Given the description of an element on the screen output the (x, y) to click on. 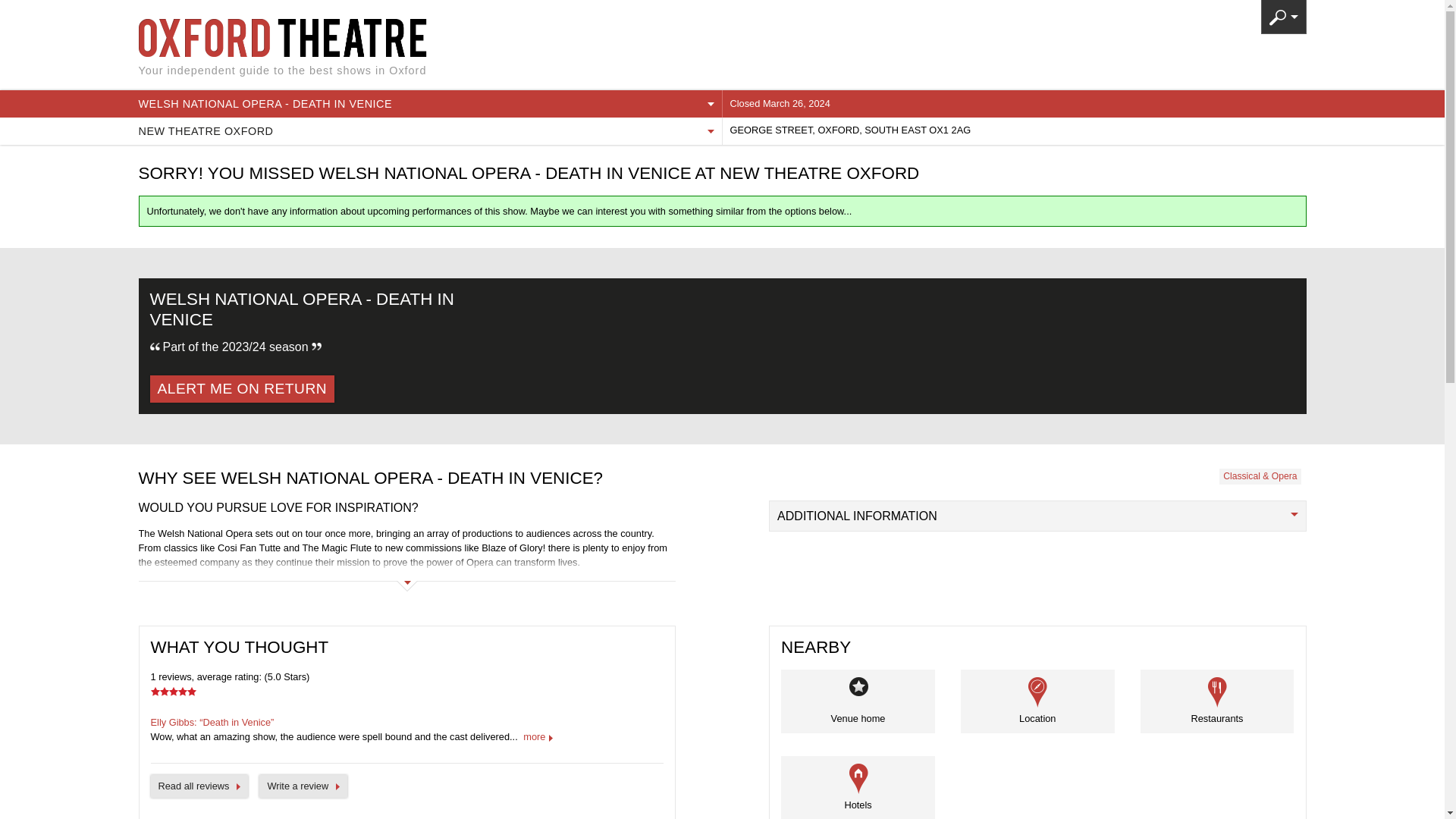
WELSH NATIONAL OPERA - DEATH IN VENICE (429, 103)
Oxford Theatre (337, 37)
NEW THEATRE OXFORD (429, 130)
